Given the description of an element on the screen output the (x, y) to click on. 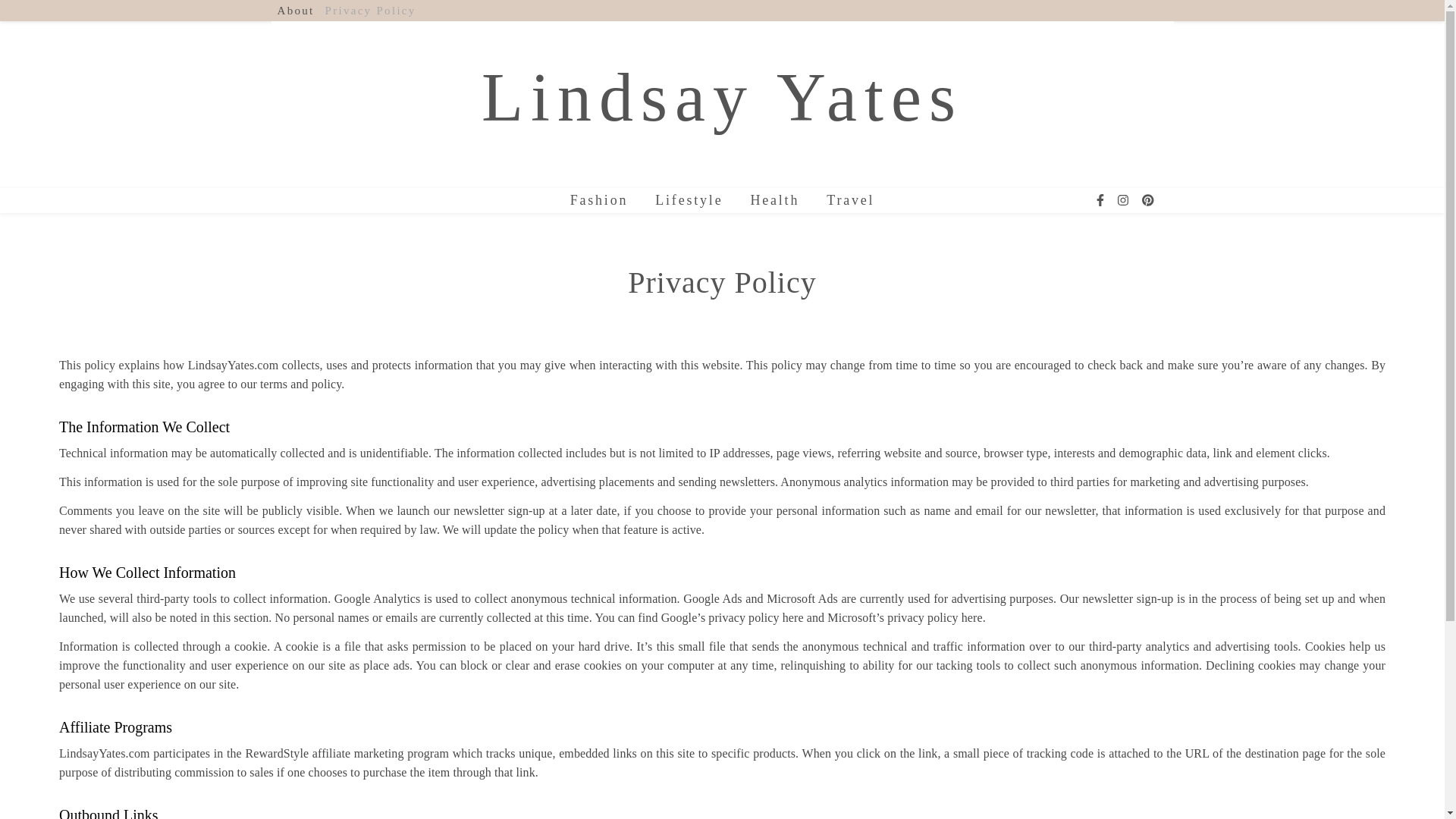
Lifestyle (689, 200)
Health (774, 200)
About (298, 10)
Privacy Policy (368, 10)
Travel (844, 200)
Fashion (605, 200)
Lindsay Yates (721, 97)
